Given the description of an element on the screen output the (x, y) to click on. 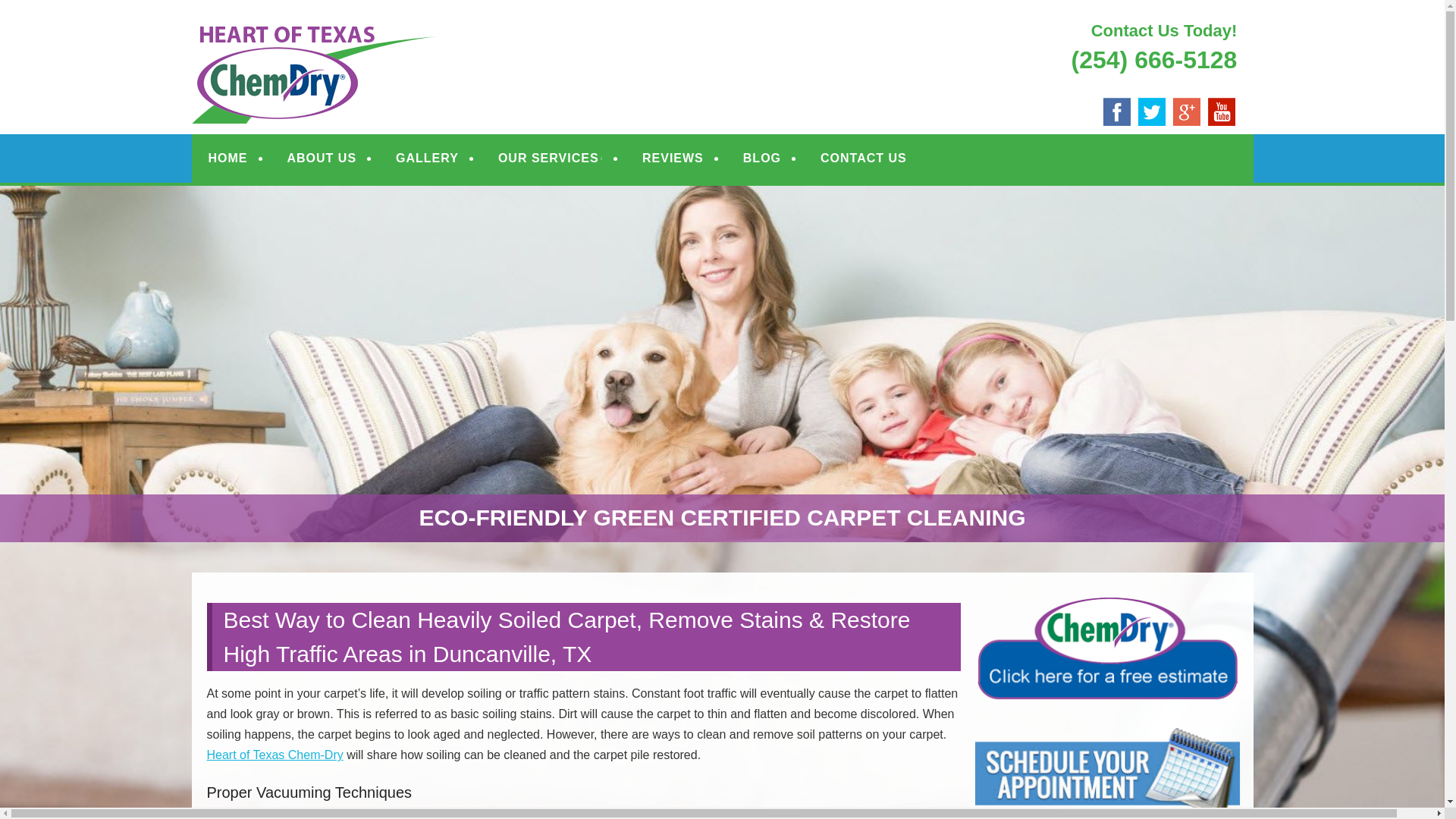
HOME (227, 157)
OUR SERVICES (550, 157)
REVIEWS (672, 157)
HEART OF TEXAS CHEMDRY (398, 32)
ABOUT US (321, 157)
Heart of Texas ChemDry (398, 32)
BLOG (762, 157)
CONTACT US (863, 157)
GALLERY (426, 157)
